Given the description of an element on the screen output the (x, y) to click on. 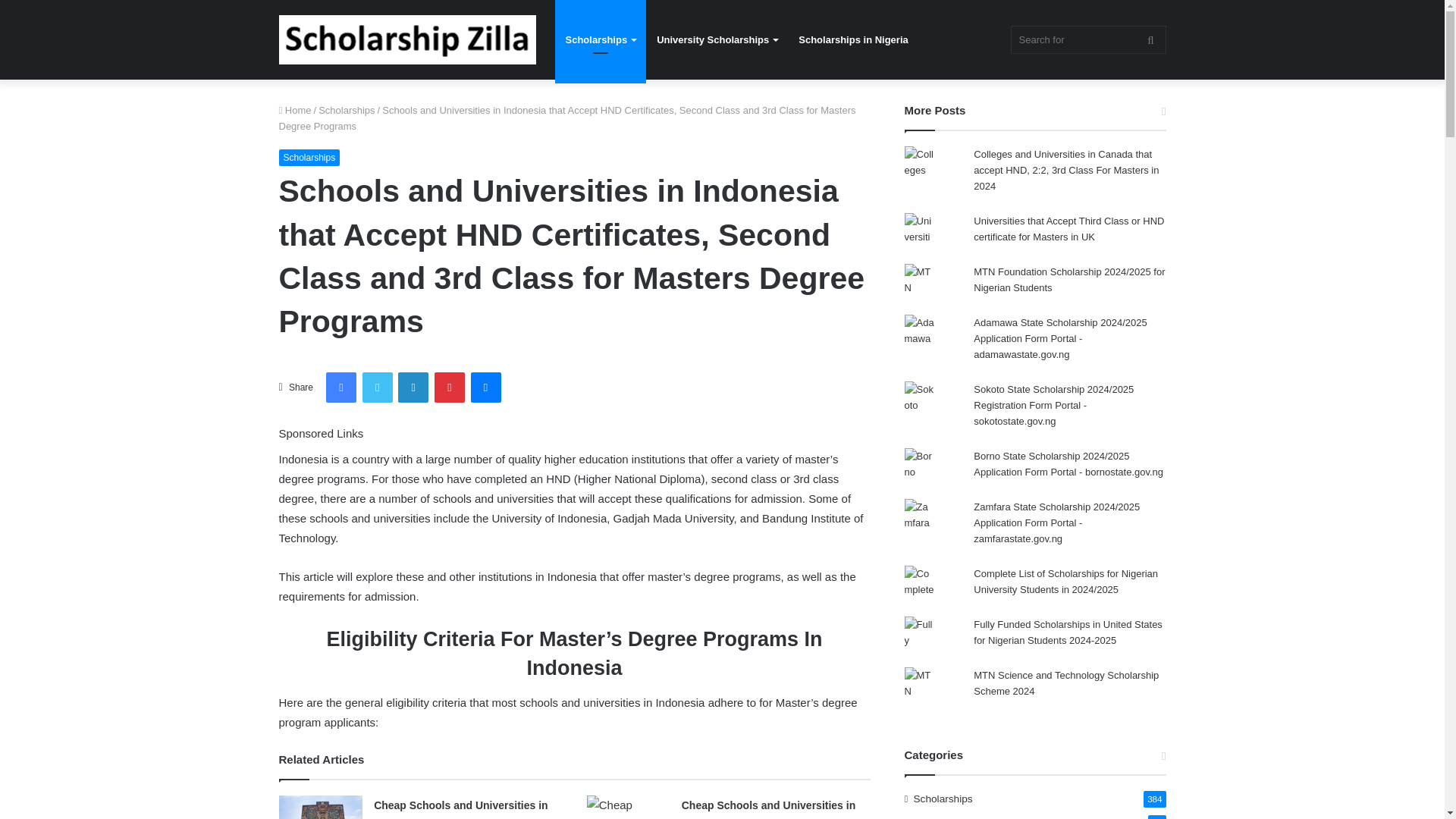
Facebook (341, 387)
Messenger (485, 387)
LinkedIn (412, 387)
Pinterest (448, 387)
Twitter (377, 387)
Twitter (377, 387)
Facebook (341, 387)
LinkedIn (412, 387)
Search for (1088, 39)
Scholarship Zilla (407, 39)
